Given the description of an element on the screen output the (x, y) to click on. 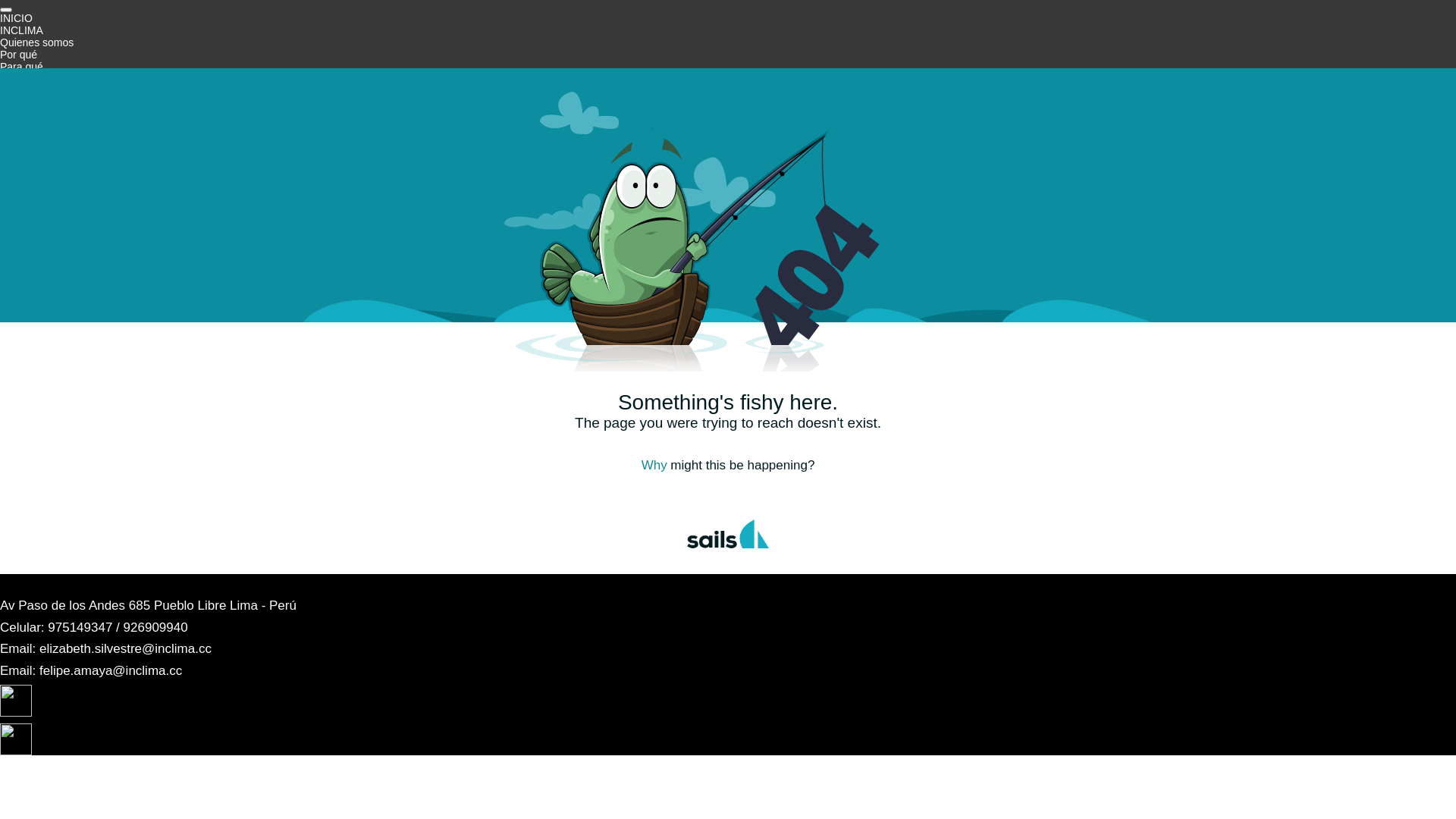
Publicaciones Element type: text (32, 200)
PROYECTOS Element type: text (33, 163)
Why Element type: text (654, 465)
Quienes somos Element type: text (36, 42)
CONTACTO Element type: text (29, 236)
INVESTIGACION Element type: text (41, 115)
TECNOLOGIA Element type: text (34, 175)
INICIO Element type: text (16, 18)
Investigacion Element type: text (31, 127)
INCLIMA Element type: text (21, 30)
PUBLICACIONES Element type: text (43, 188)
Equipo Element type: text (16, 78)
Noticias Element type: text (18, 212)
Videos Element type: text (16, 224)
